Given the description of an element on the screen output the (x, y) to click on. 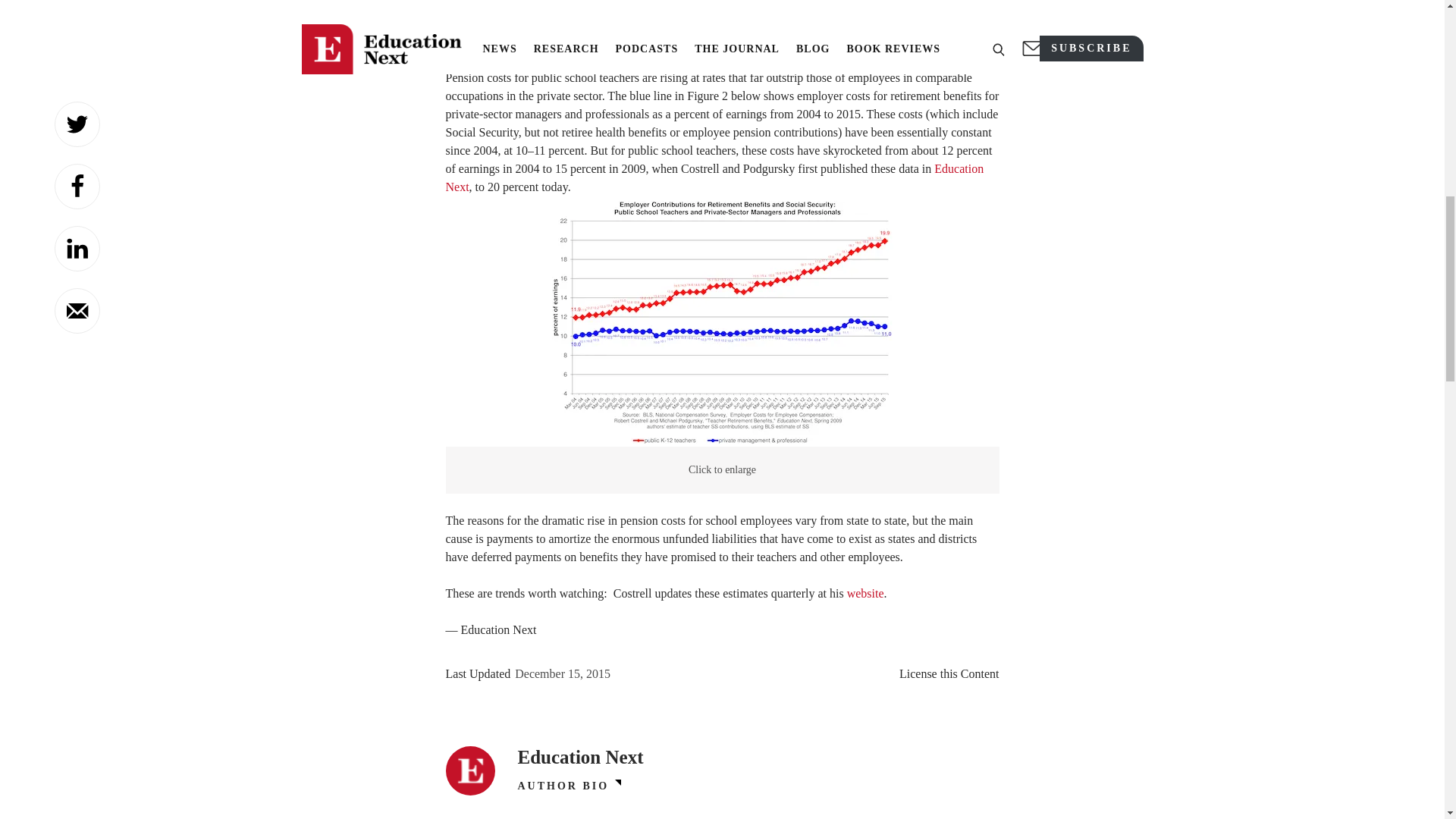
website (865, 593)
Education Next (714, 177)
License this Content (948, 674)
